Given the description of an element on the screen output the (x, y) to click on. 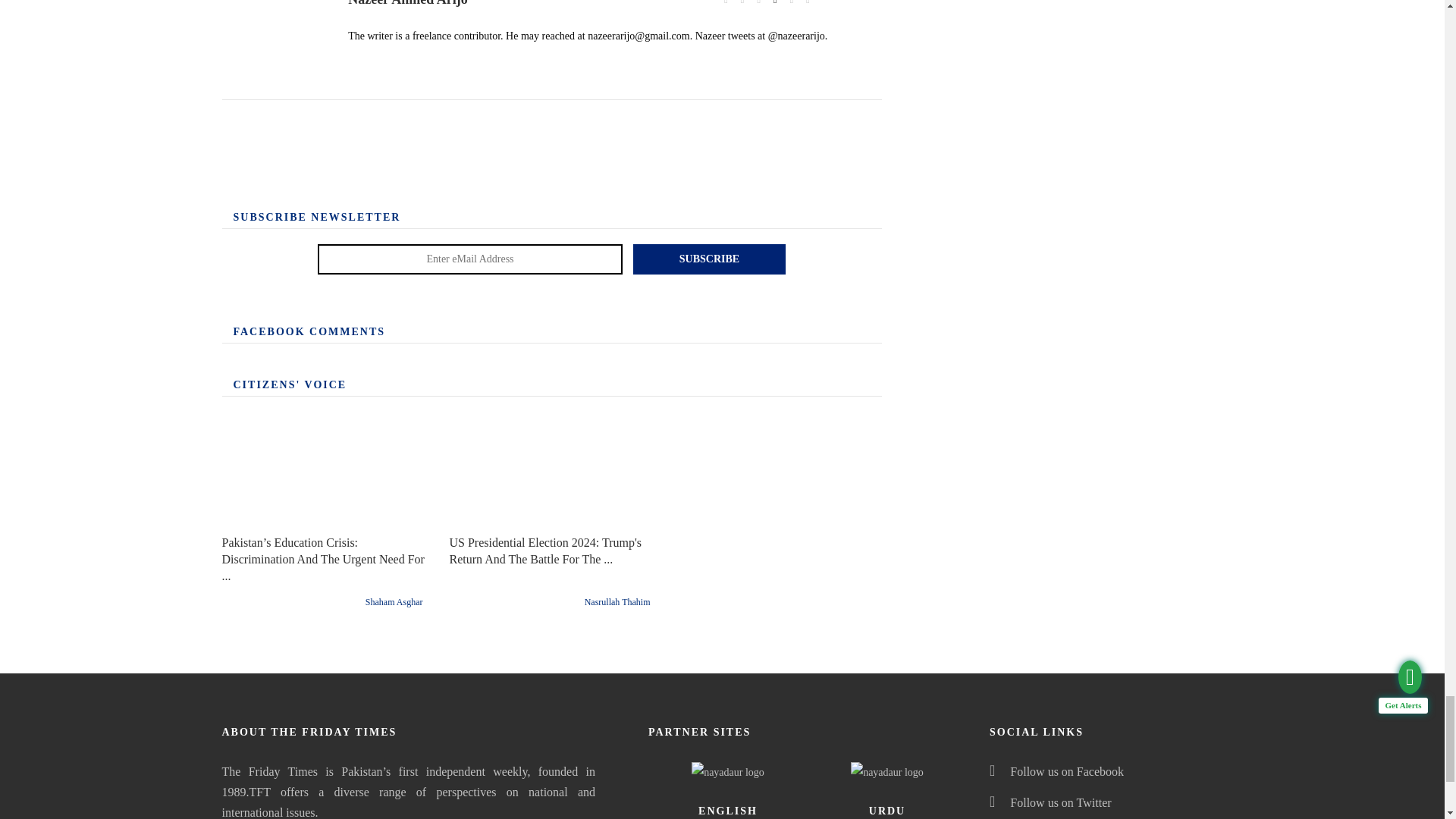
Subscribe (709, 259)
Nazeer Ahmed Arijo (283, 42)
